Given the description of an element on the screen output the (x, y) to click on. 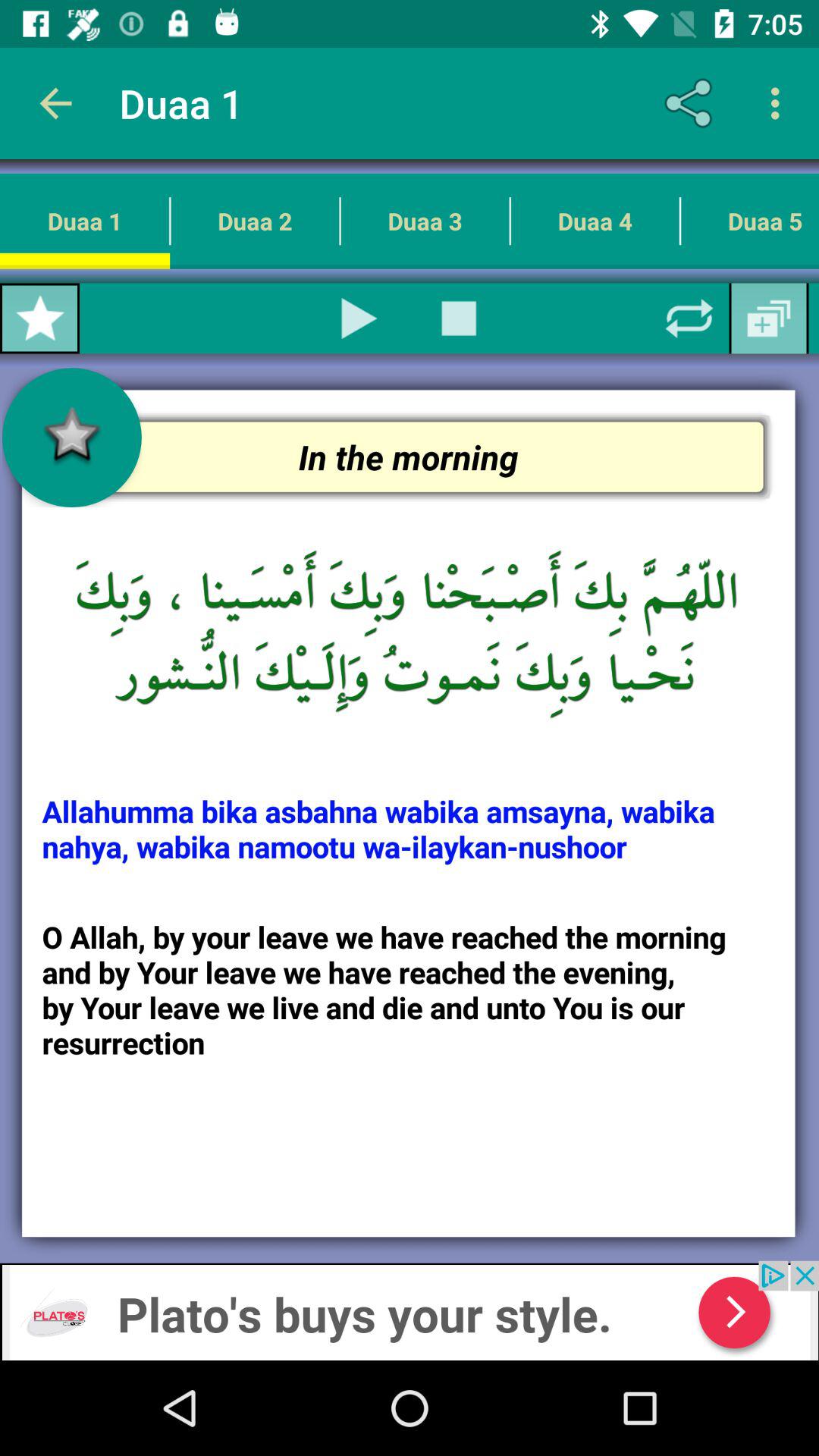
open app next to the duaa 2 (39, 318)
